Given the description of an element on the screen output the (x, y) to click on. 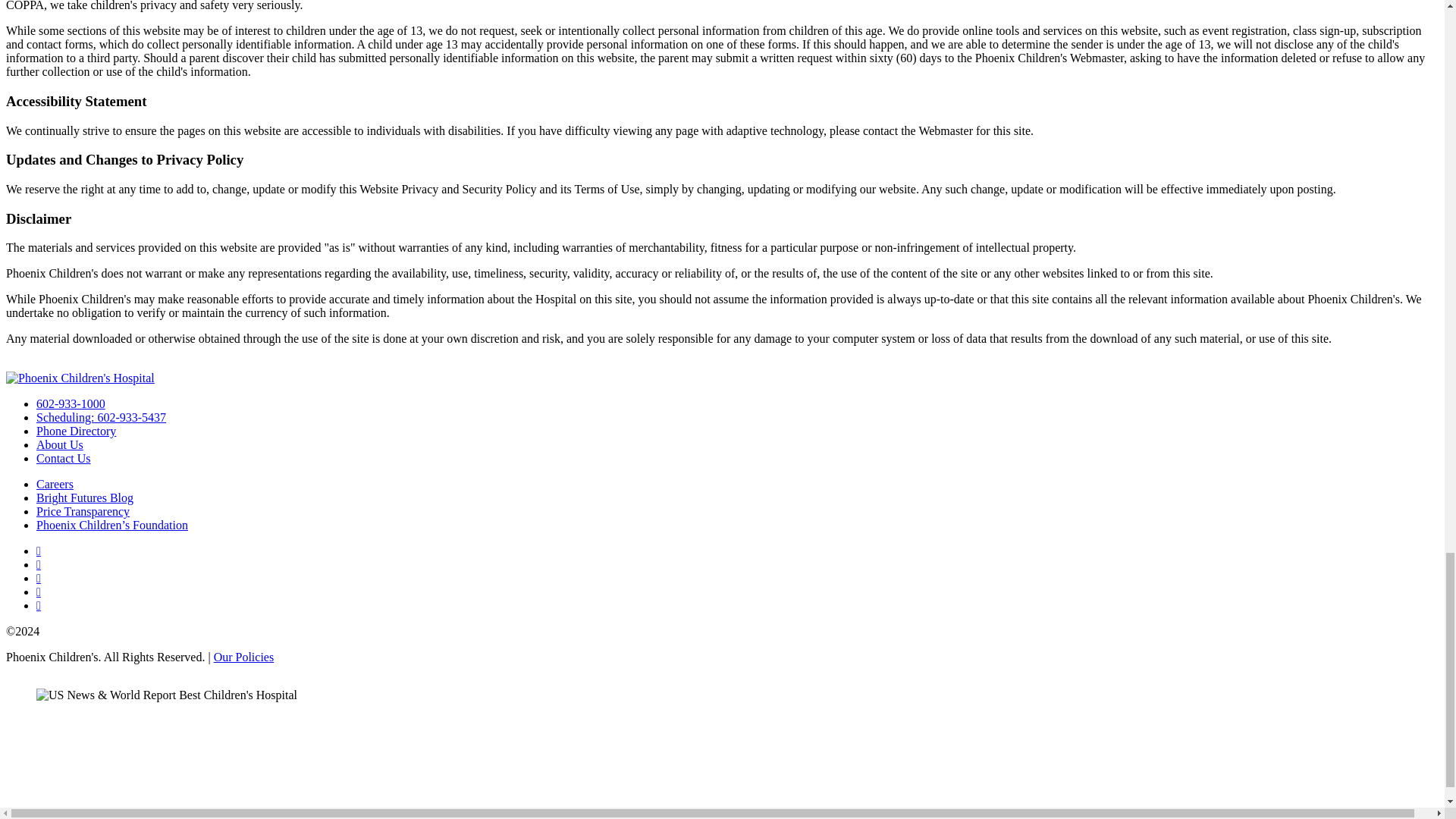
Our Policies (244, 656)
